Given the description of an element on the screen output the (x, y) to click on. 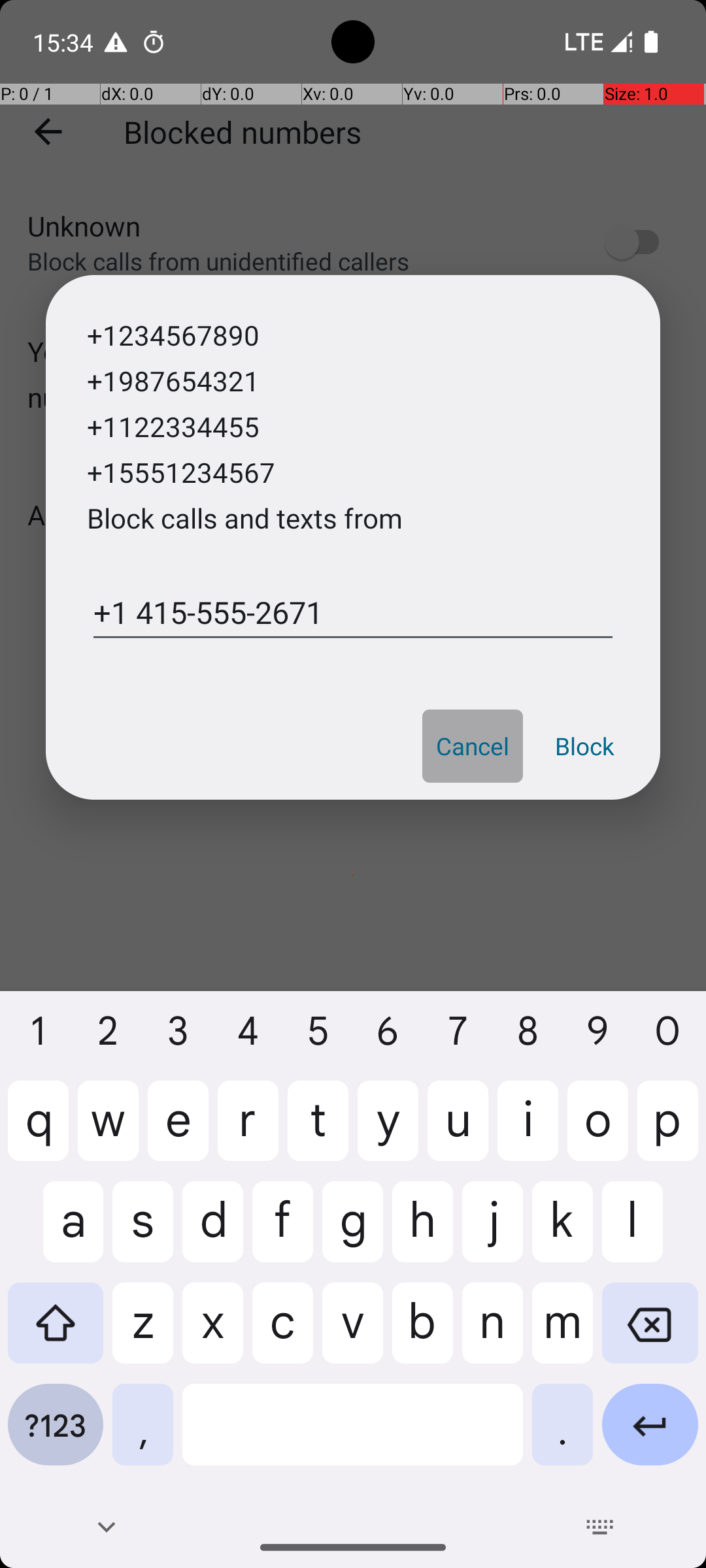
+1234567890
+1987654321
+1122334455
+15551234567
Block calls and texts from Element type: android.widget.TextView (244, 439)
+1 415-555-2671 Element type: android.widget.EditText (352, 607)
Block Element type: android.widget.Button (584, 745)
q Element type: android.widget.FrameLayout (38, 1130)
w Element type: android.widget.FrameLayout (108, 1130)
e Element type: android.widget.FrameLayout (178, 1130)
r Element type: android.widget.FrameLayout (248, 1130)
t Element type: android.widget.FrameLayout (318, 1130)
y Element type: android.widget.FrameLayout (387, 1130)
u Element type: android.widget.FrameLayout (457, 1130)
i Element type: android.widget.FrameLayout (527, 1130)
o Element type: android.widget.FrameLayout (597, 1130)
p Element type: android.widget.FrameLayout (667, 1130)
a Element type: android.widget.FrameLayout (55, 1231)
s Element type: android.widget.FrameLayout (142, 1231)
d Element type: android.widget.FrameLayout (212, 1231)
f Element type: android.widget.FrameLayout (282, 1231)
g Element type: android.widget.FrameLayout (352, 1231)
h Element type: android.widget.FrameLayout (422, 1231)
j Element type: android.widget.FrameLayout (492, 1231)
k Element type: android.widget.FrameLayout (562, 1231)
l Element type: android.widget.FrameLayout (649, 1231)
z Element type: android.widget.FrameLayout (142, 1332)
x Element type: android.widget.FrameLayout (212, 1332)
c Element type: android.widget.FrameLayout (282, 1332)
v Element type: android.widget.FrameLayout (352, 1332)
b Element type: android.widget.FrameLayout (422, 1332)
n Element type: android.widget.FrameLayout (492, 1332)
m Element type: android.widget.FrameLayout (562, 1332)
Enter Element type: android.widget.FrameLayout (649, 1434)
